Given the description of an element on the screen output the (x, y) to click on. 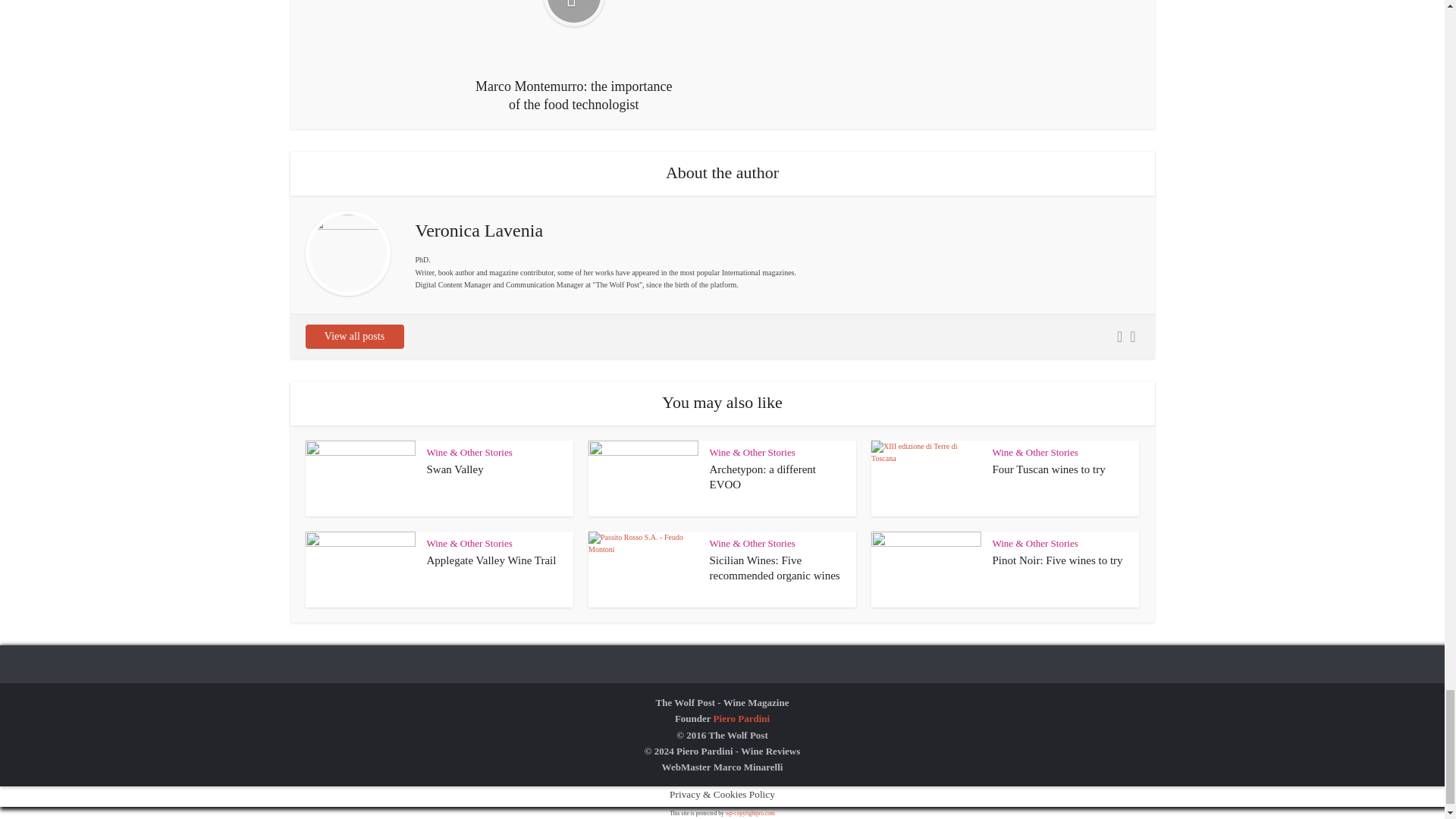
Pinot Noir: Five wines to try (1056, 560)
Applegate Valley Wine Trail (491, 560)
Sicilian Wines: Five recommended organic wines (775, 567)
Archetypon: a different EVOO (763, 476)
Four Tuscan wines to try (1048, 469)
Swan Valley (454, 469)
Wp-Copyrightpro (749, 812)
